Given the description of an element on the screen output the (x, y) to click on. 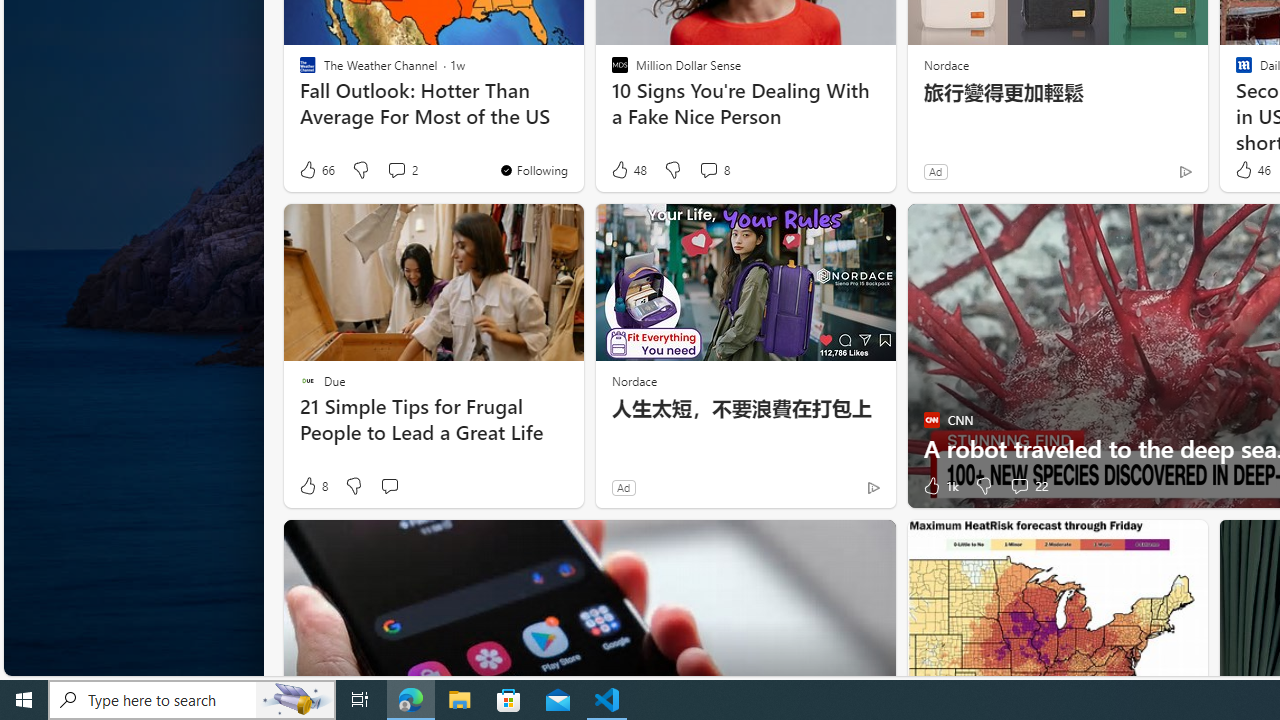
View comments 8 Comment (708, 169)
66 Like (316, 170)
View comments 22 Comment (1028, 485)
46 Like (1251, 170)
View comments 2 Comment (396, 169)
